Given the description of an element on the screen output the (x, y) to click on. 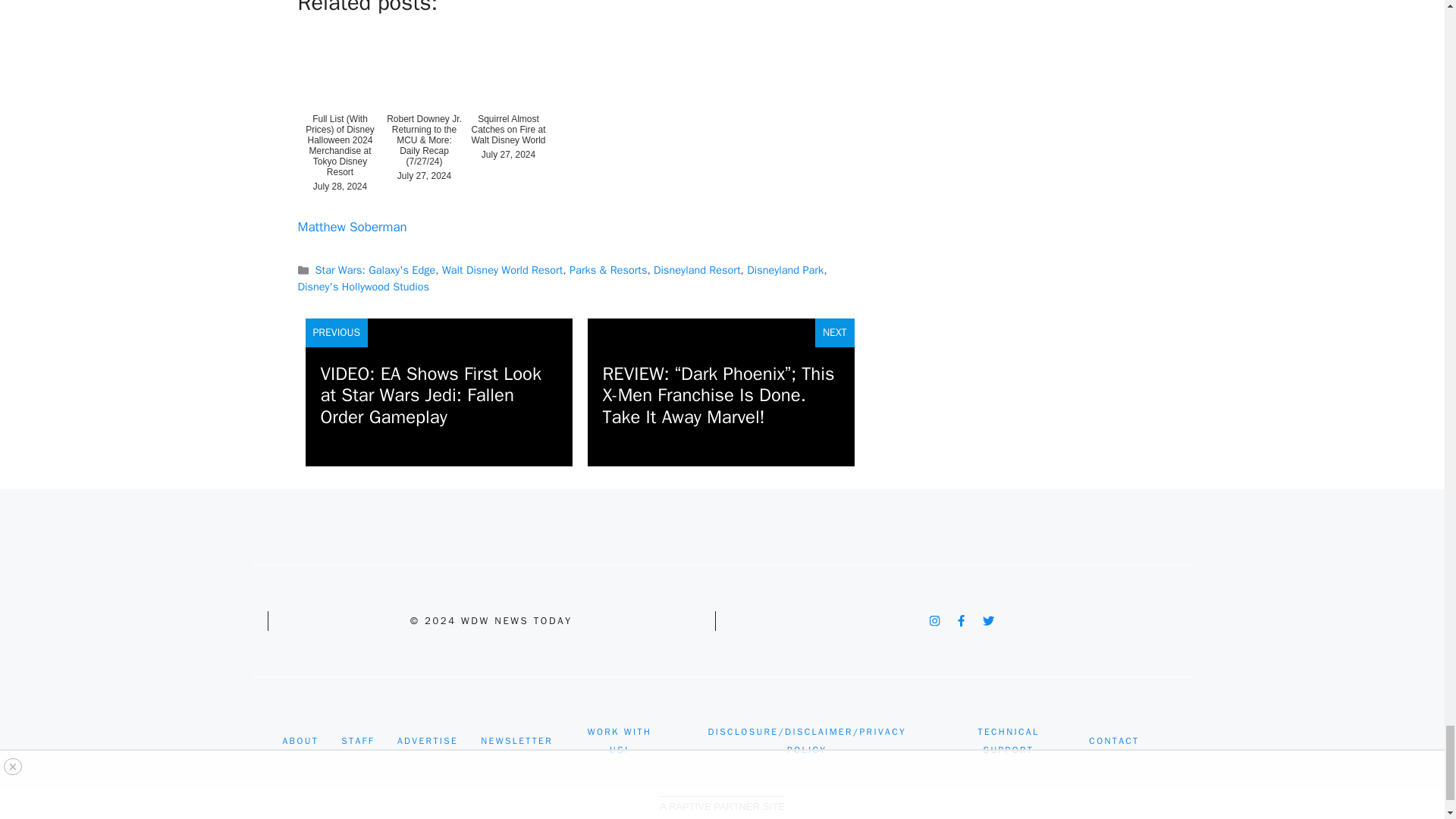
Matthew Soberman (351, 227)
